Given the description of an element on the screen output the (x, y) to click on. 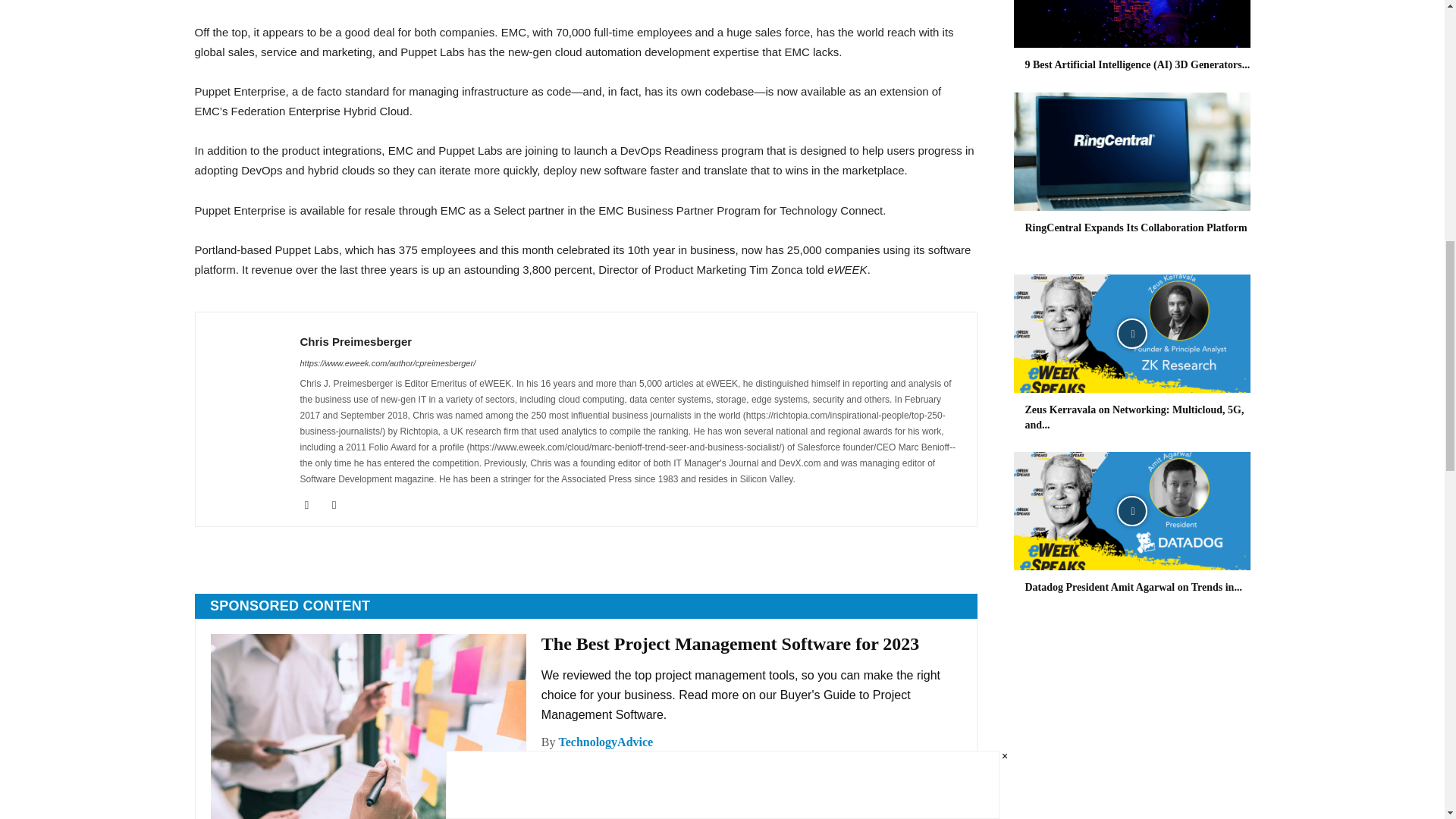
Linkedin (311, 505)
Twitter (339, 505)
RingCentral Expands Its Collaboration Platform (1131, 151)
RingCentral Expands Its Collaboration Platform (1136, 227)
